Given the description of an element on the screen output the (x, y) to click on. 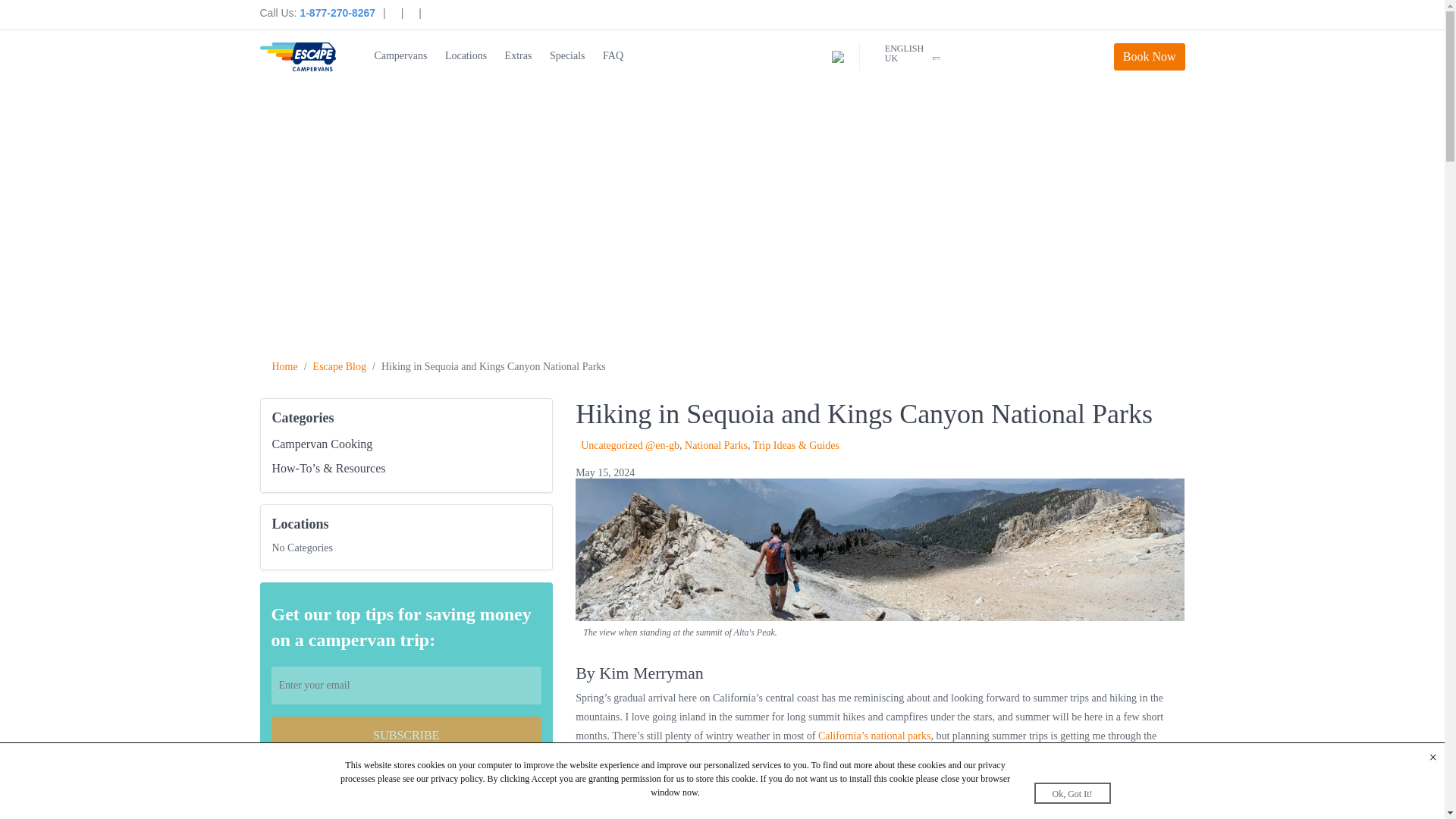
Specials (567, 56)
Campervans (400, 56)
Home (283, 366)
Escape Blog (339, 366)
Locations (465, 56)
ENGLISH UK (904, 53)
Subscribe (405, 735)
Subscribe (405, 735)
1-877-270-8267 (337, 12)
Extras (518, 56)
